Given the description of an element on the screen output the (x, y) to click on. 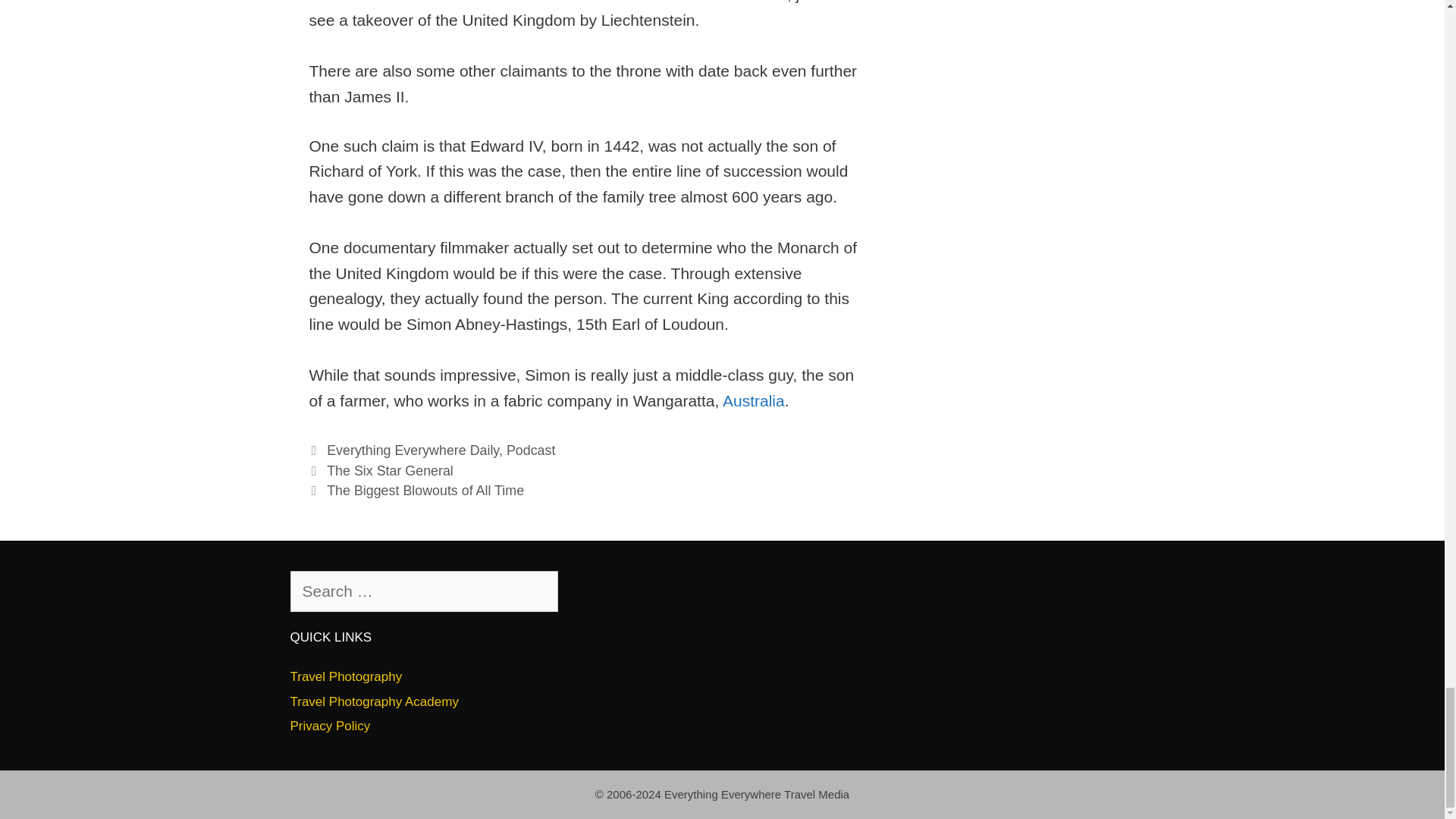
Podcast (530, 450)
Australia (753, 400)
Everything Everywhere Daily (412, 450)
Search for: (423, 590)
